Given the description of an element on the screen output the (x, y) to click on. 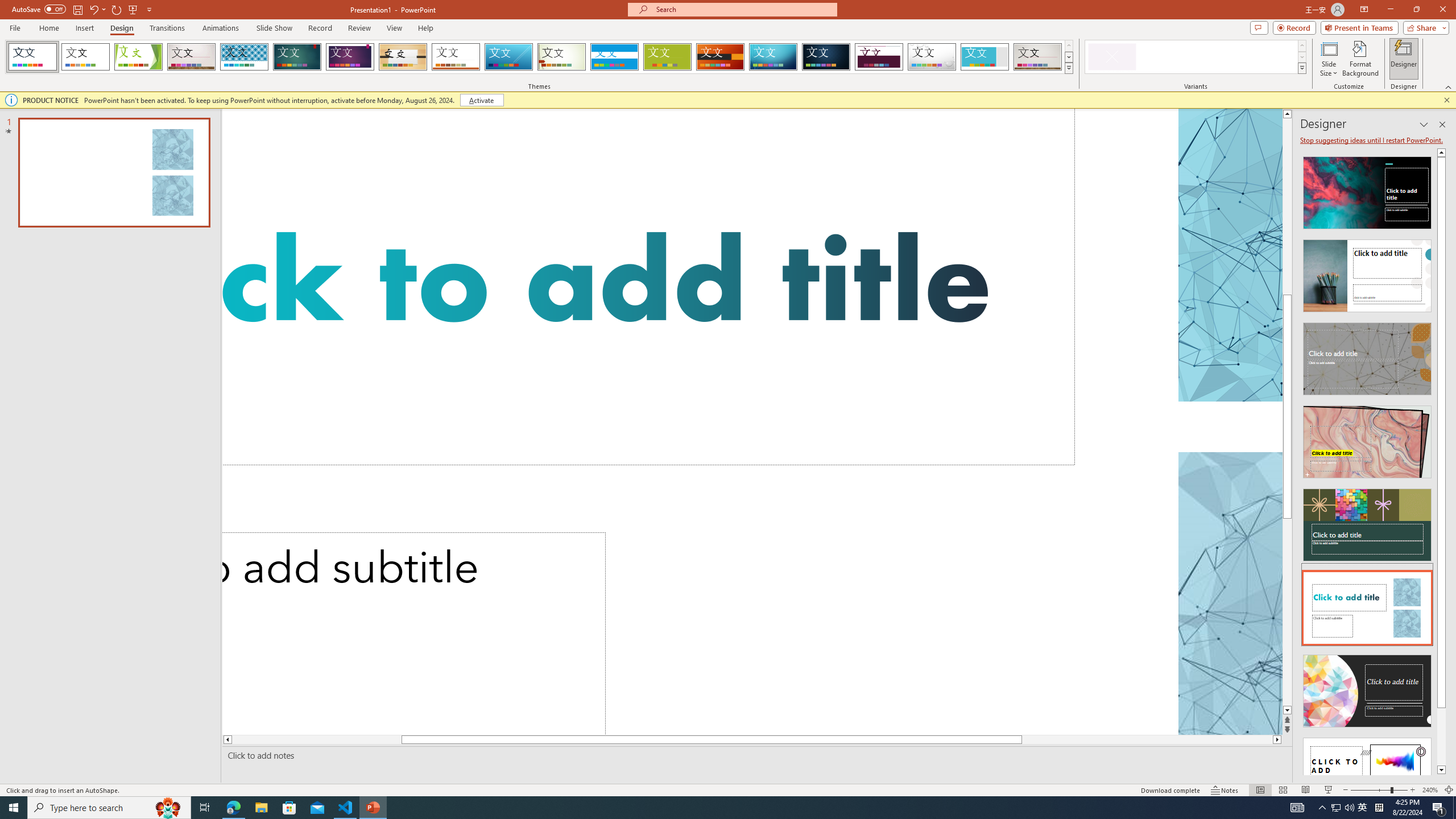
Damask (826, 56)
Ion Boardroom (350, 56)
Office Theme (85, 56)
Banded (614, 56)
Close this message (1446, 99)
